Given the description of an element on the screen output the (x, y) to click on. 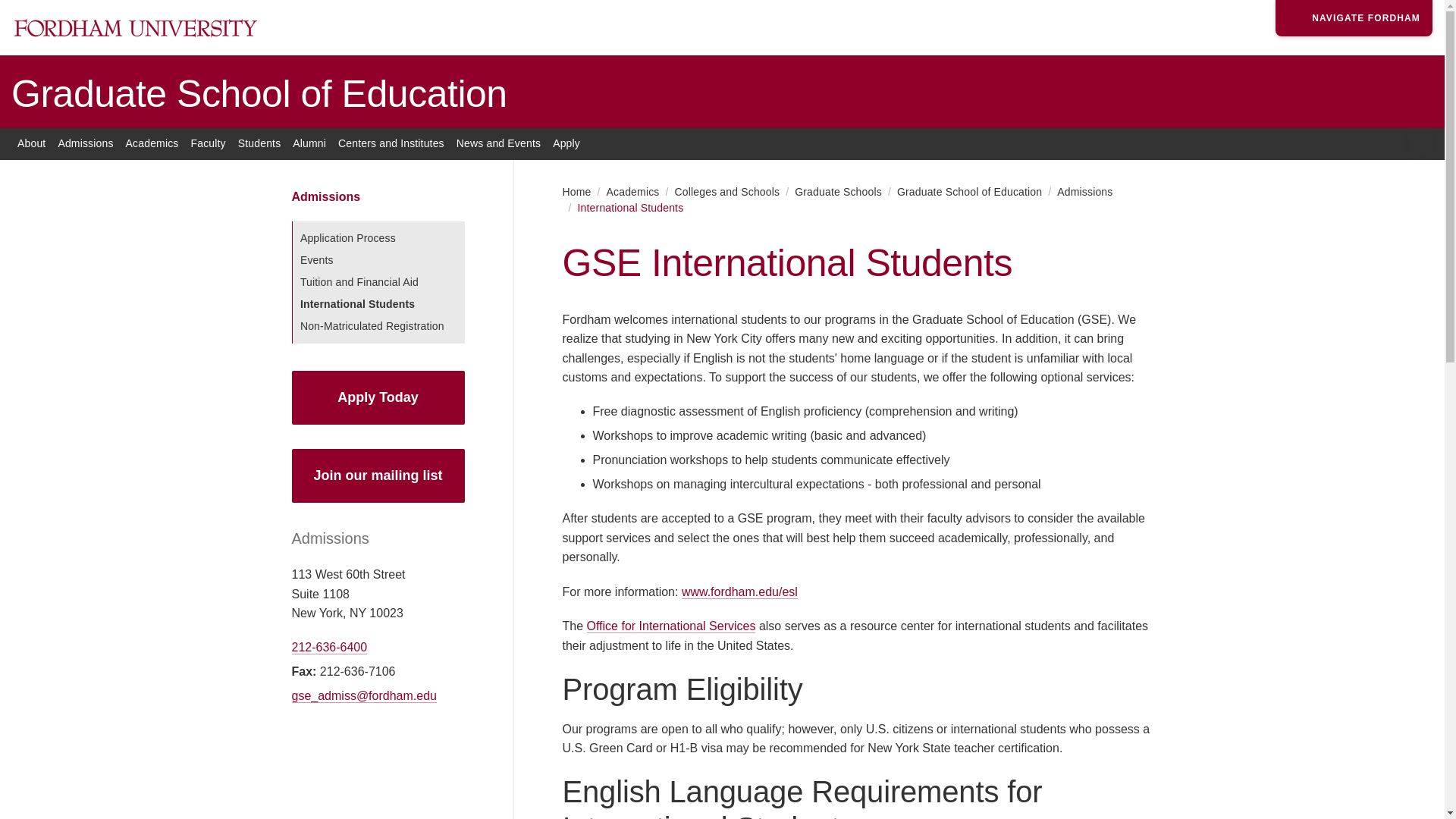
Search icon (1424, 144)
NAVIGATE FORDHAM (1353, 18)
